Given the description of an element on the screen output the (x, y) to click on. 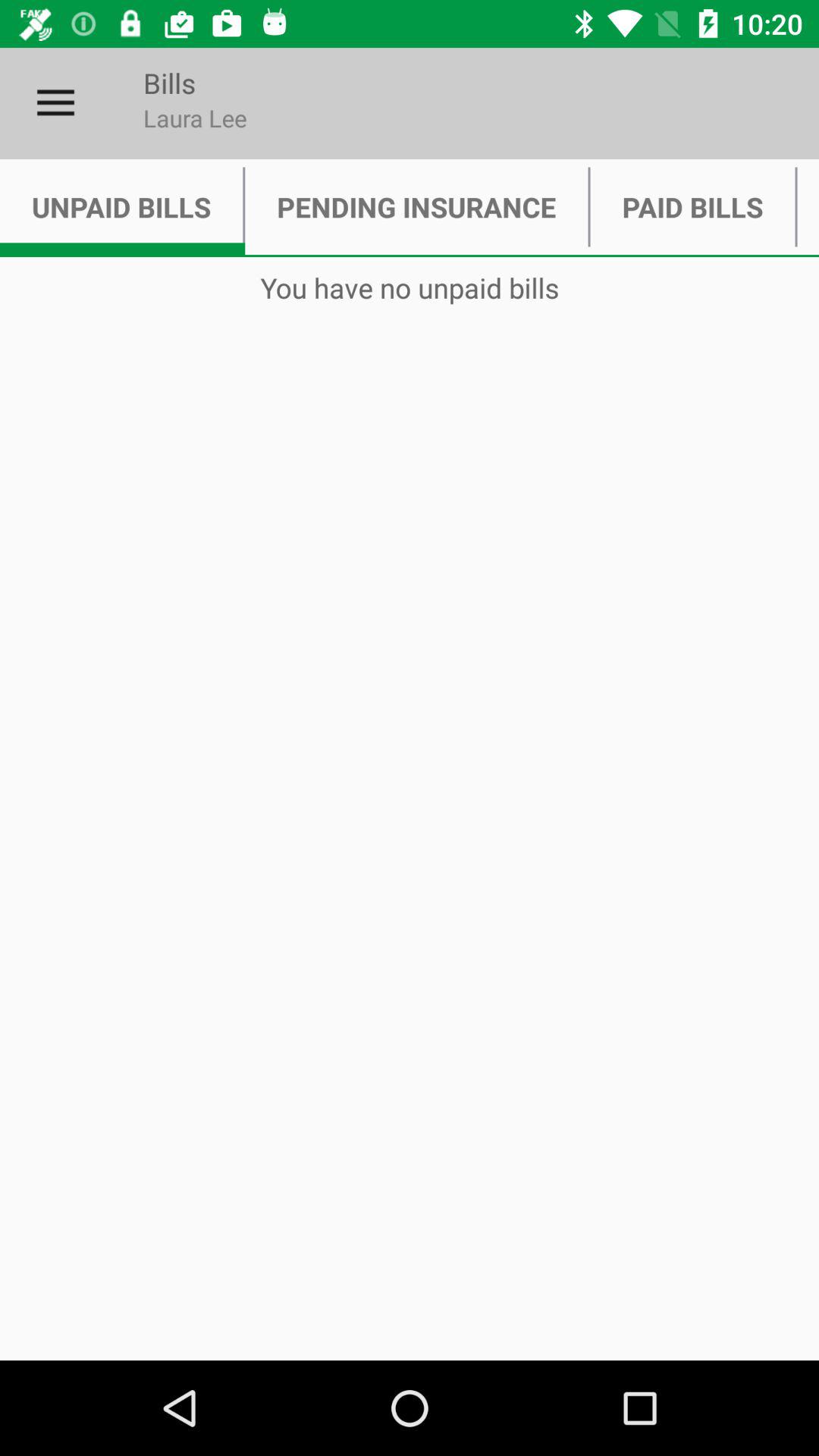
launch icon above unpaid bills (55, 103)
